Given the description of an element on the screen output the (x, y) to click on. 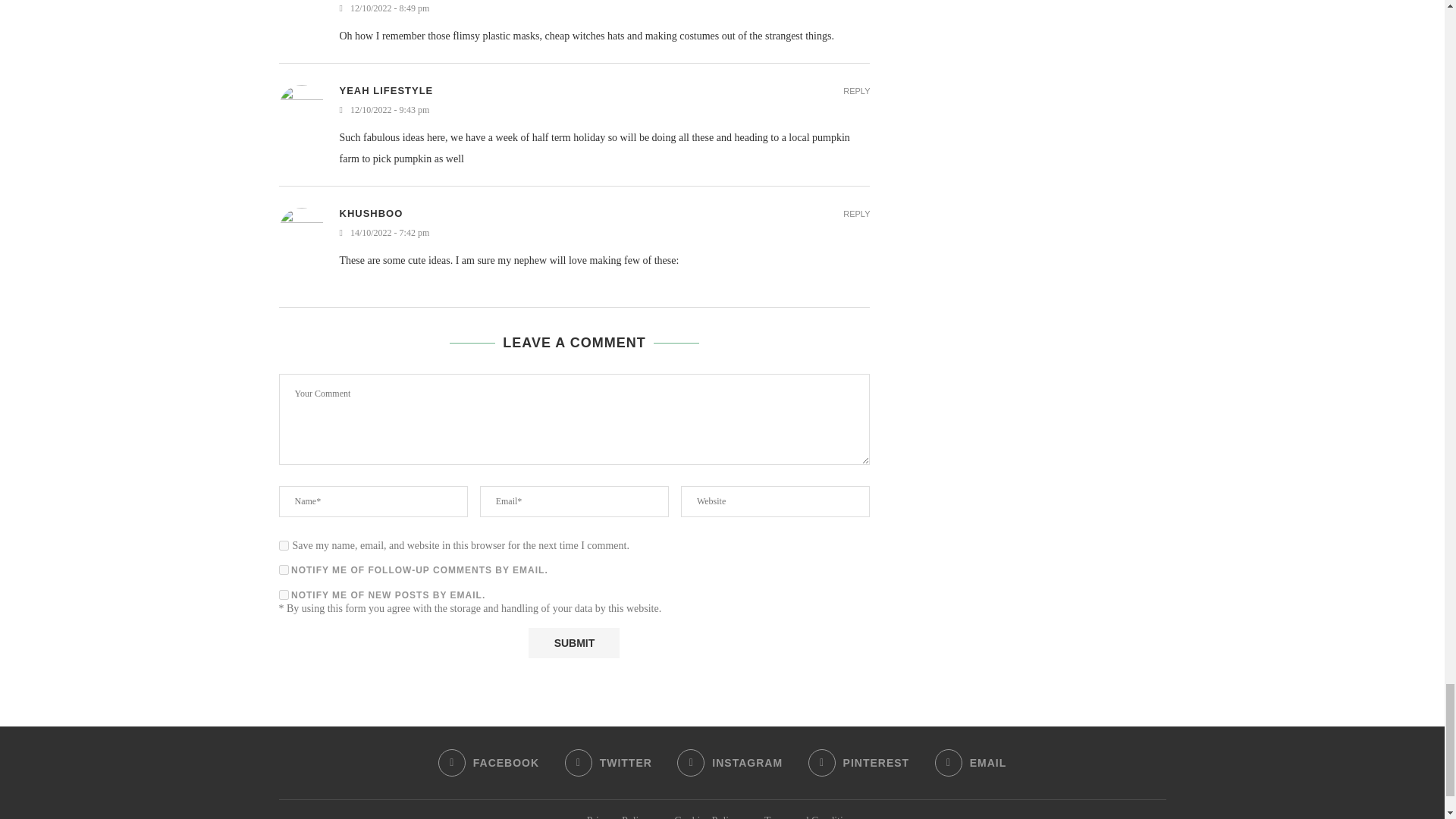
subscribe (283, 569)
subscribe (283, 594)
Submit (574, 643)
yes (283, 545)
